Given the description of an element on the screen output the (x, y) to click on. 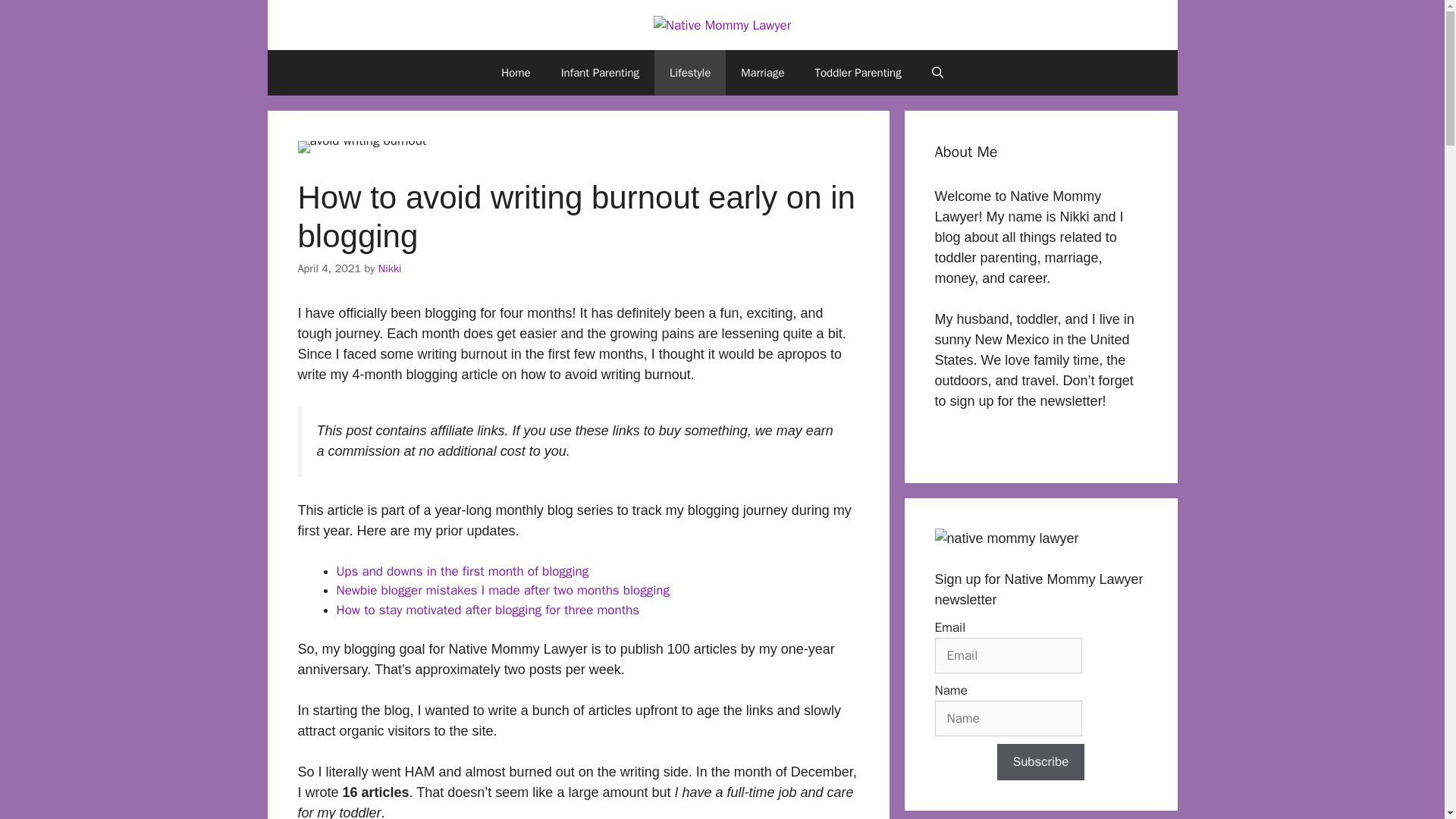
Subscribe (1040, 761)
How to stay motivated after blogging for three months (488, 609)
Home (515, 72)
Ups and downs in the first month of blogging (462, 571)
Newbie blogger mistakes I made after two months blogging (502, 590)
Lifestyle (689, 72)
View all posts by Nikki (389, 268)
Nikki (389, 268)
Native Mommy Lawyer (721, 25)
Infant Parenting (599, 72)
